Given the description of an element on the screen output the (x, y) to click on. 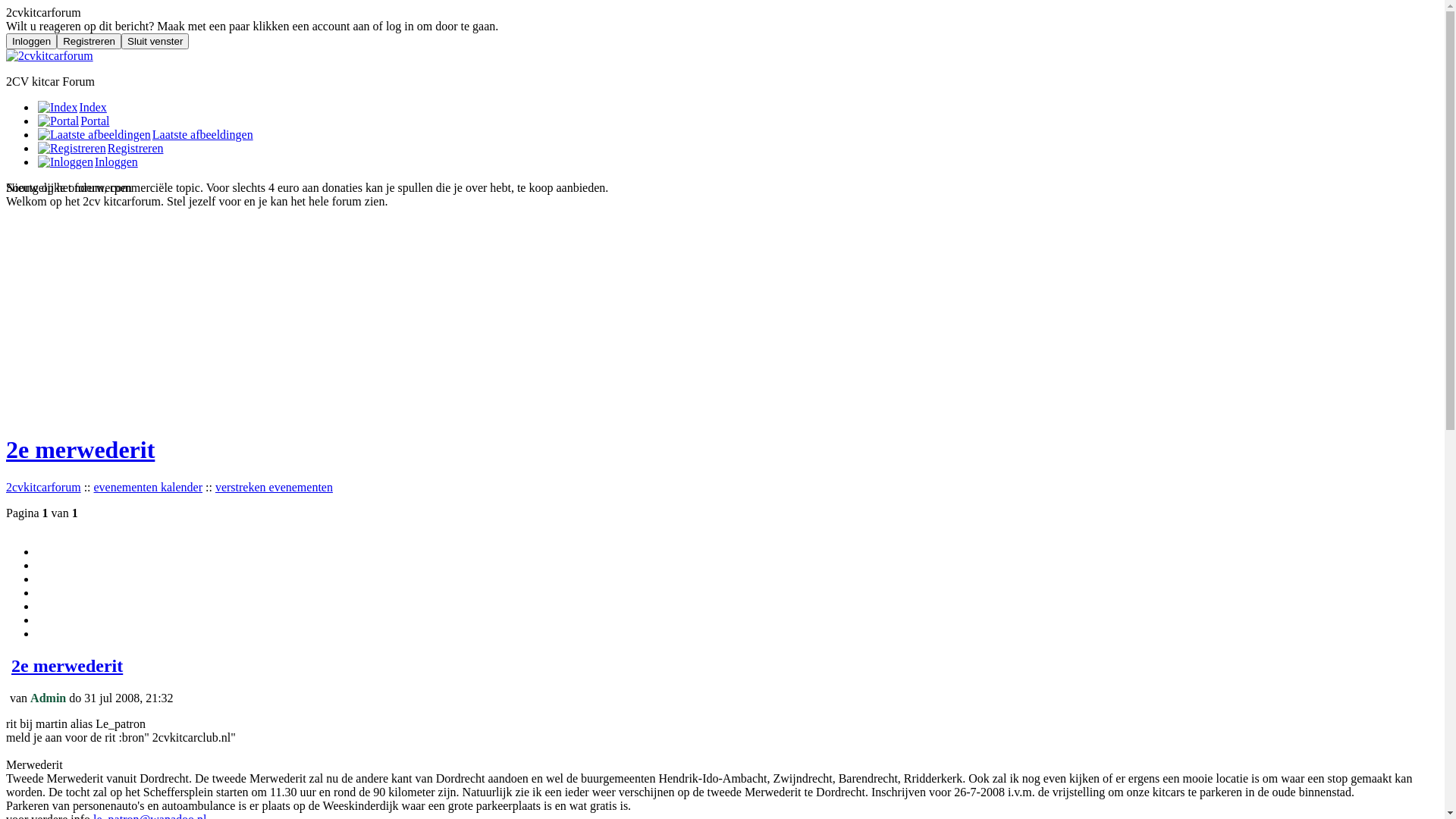
Laatste afbeeldingen Element type: hover (93, 134)
Registreren Element type: text (99, 147)
Laatste afbeeldingen Element type: text (144, 134)
Portal Element type: hover (57, 121)
evenementen kalender Element type: text (148, 486)
2cvkitcarforum Element type: text (43, 486)
2e merwederit Element type: text (80, 449)
Bericht Element type: hover (6, 701)
Index Element type: text (71, 106)
Registreren Element type: text (88, 41)
verstreken evenementen Element type: text (273, 486)
Inloggen Element type: hover (65, 162)
Portal Element type: text (72, 120)
Inloggen Element type: text (87, 161)
Registreren Element type: hover (71, 148)
Inloggen Element type: text (31, 41)
2e merwederit Element type: text (66, 665)
Index Element type: hover (57, 107)
